Given the description of an element on the screen output the (x, y) to click on. 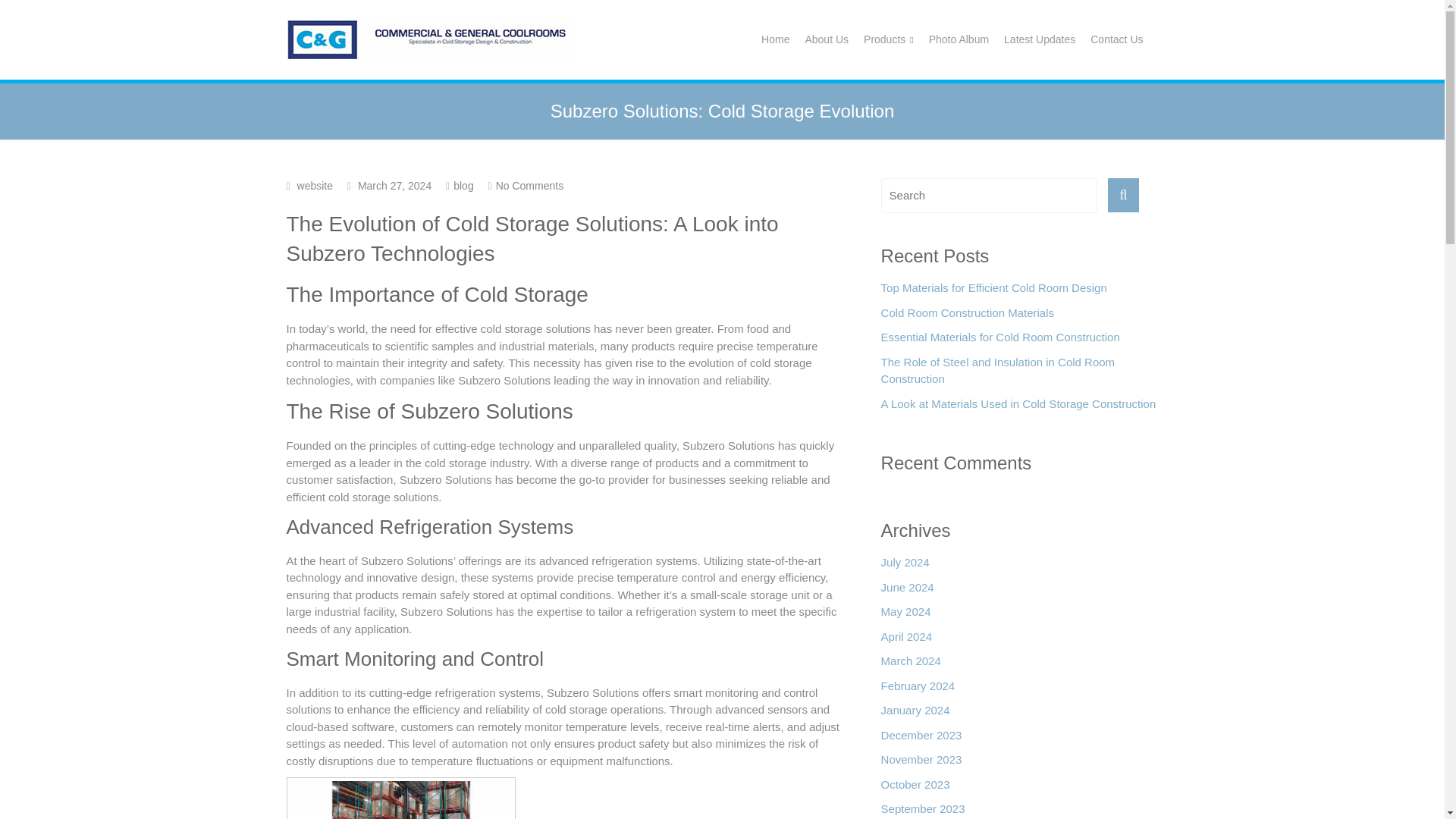
Contact Us (1116, 38)
blog (462, 185)
September 2023 (922, 809)
February 2024 (917, 690)
About Us (826, 38)
May 2024 (905, 615)
11:25 am (394, 185)
A Look at Materials Used in Cold Storage Construction (1018, 407)
January 2024 (915, 714)
November 2023 (921, 763)
Essential Materials for Cold Room Construction (999, 341)
October 2023 (915, 788)
No Comments (529, 185)
Home (775, 38)
March 27, 2024 (394, 185)
